Given the description of an element on the screen output the (x, y) to click on. 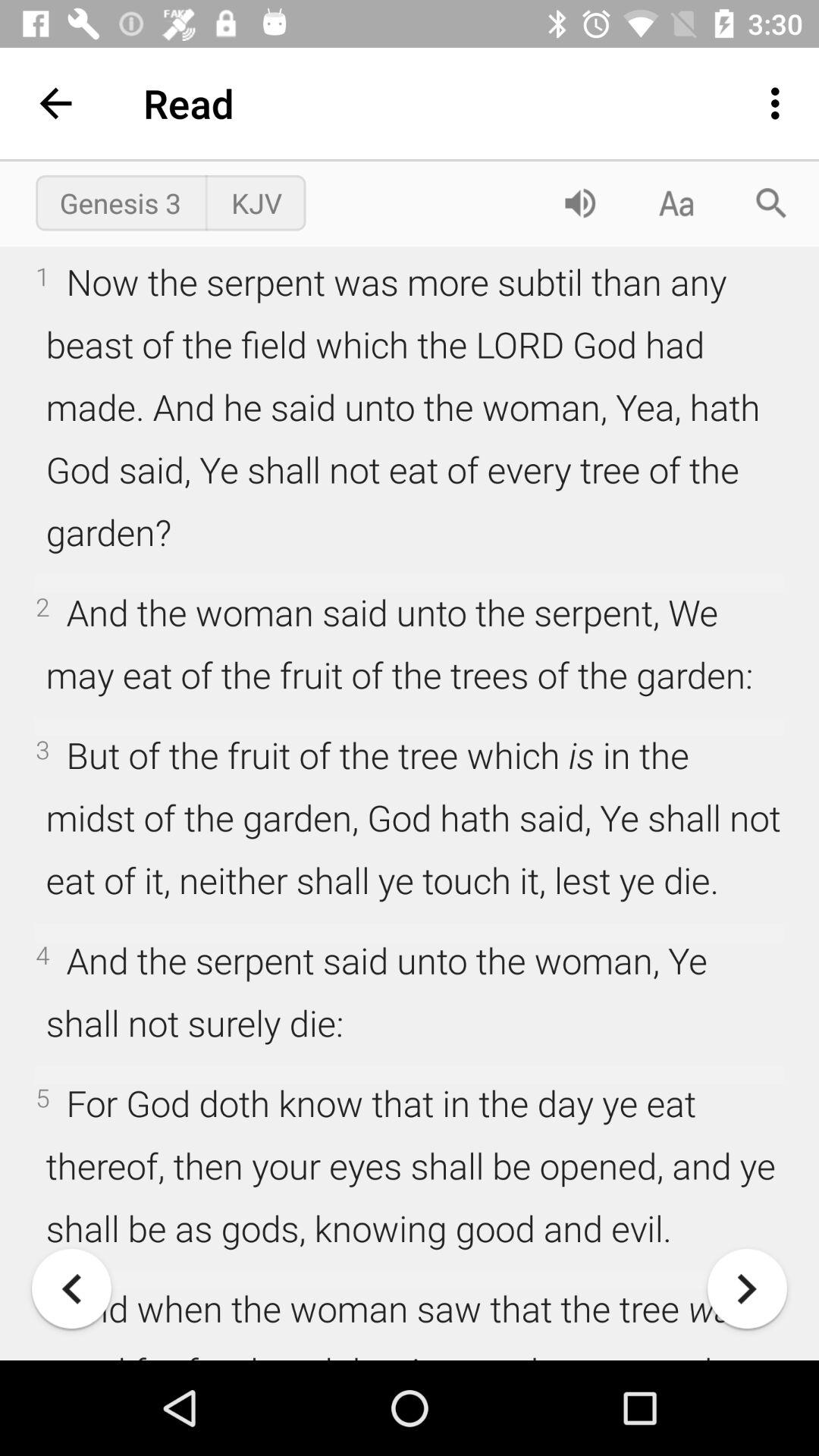
continue to next page (747, 1288)
